Given the description of an element on the screen output the (x, y) to click on. 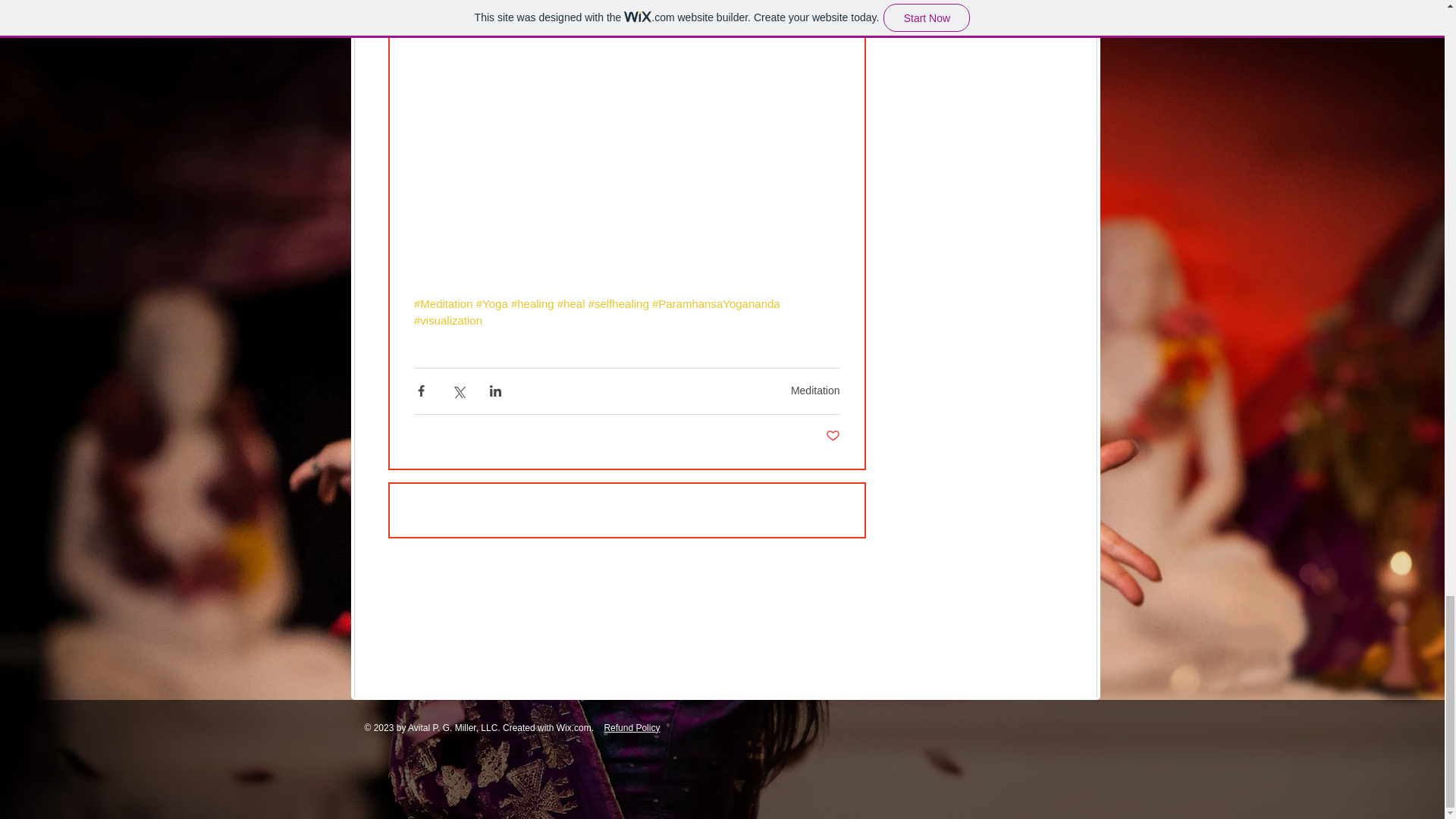
ricos-video (626, 77)
